Given the description of an element on the screen output the (x, y) to click on. 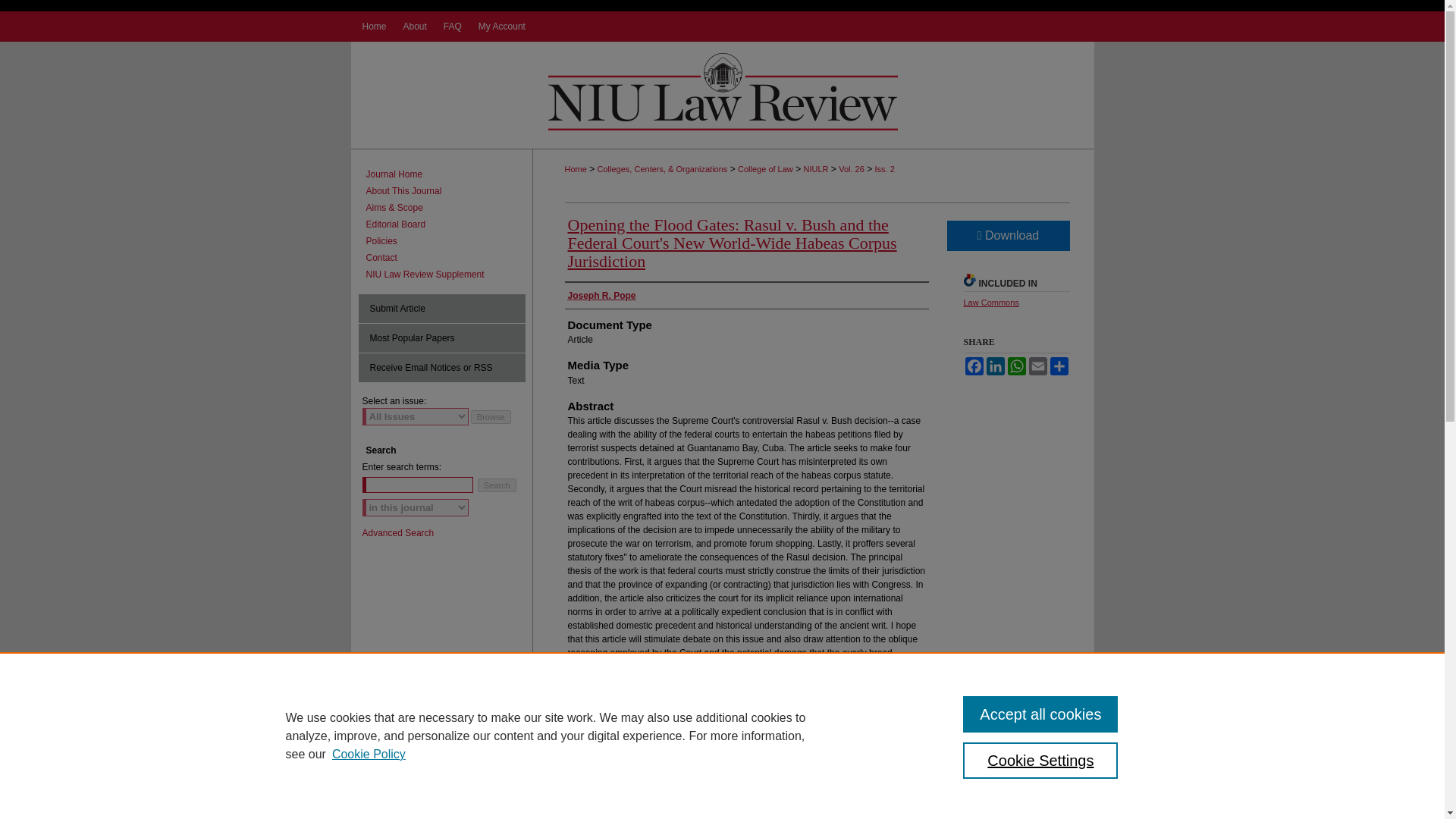
Search (496, 485)
Browse (490, 417)
NIU Law Review Supplement (448, 274)
Editorial Board (448, 224)
Home (372, 26)
Browse (490, 417)
About This Journal (448, 190)
Facebook (973, 366)
About (413, 26)
Law Commons (989, 302)
WhatsApp (1016, 366)
About (413, 26)
Home (372, 26)
Vol. 26 (851, 168)
FAQ (452, 26)
